Given the description of an element on the screen output the (x, y) to click on. 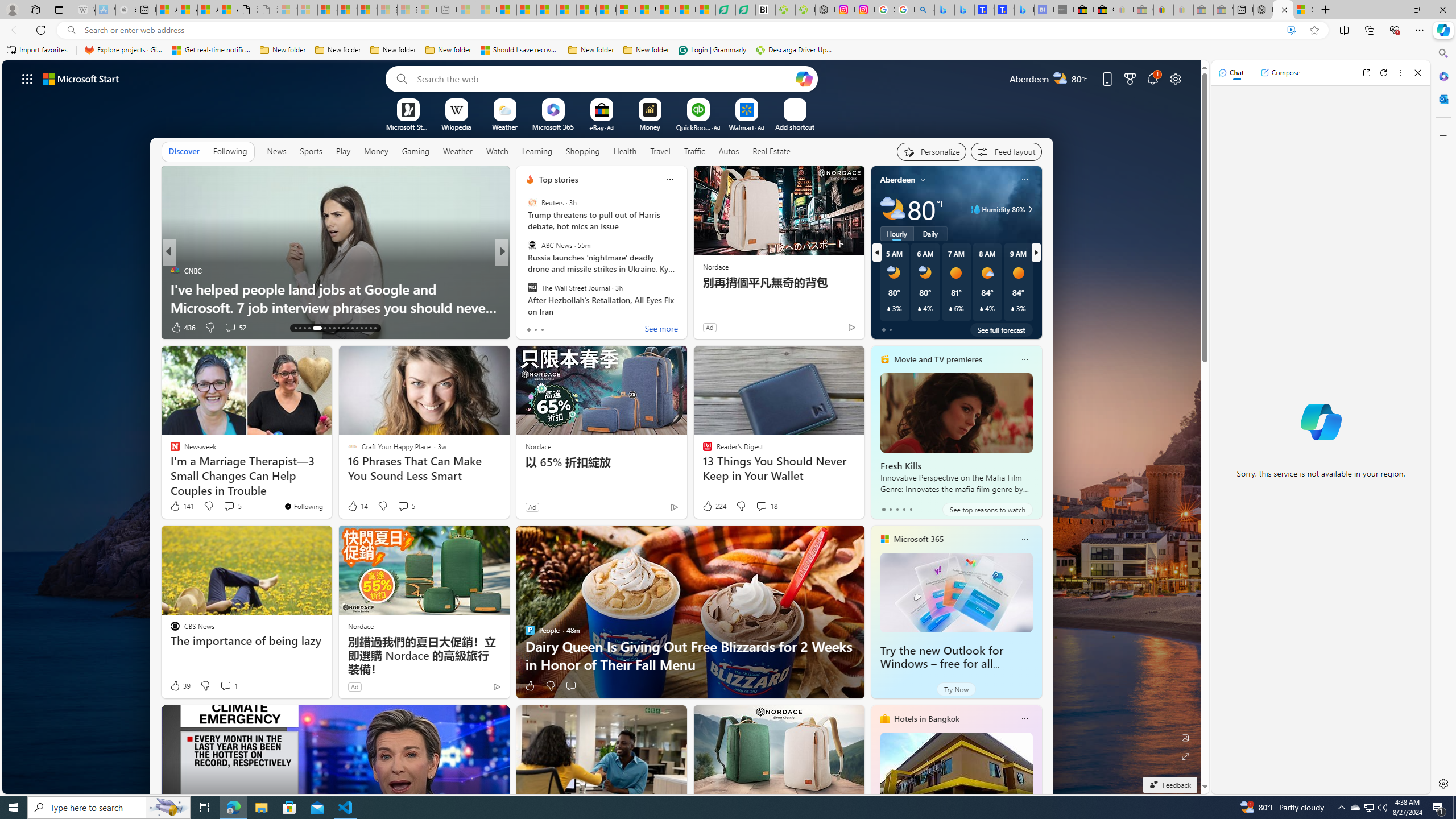
Class: control (27, 78)
Aberdeen, Hong Kong SAR severe weather | Microsoft Weather (227, 9)
Try Now (956, 689)
Should I save recovered Word documents? - Microsoft Support (519, 49)
Humidity 86% (1028, 208)
AutomationID: tab-24 (352, 328)
Avoid These 20 Phrases for a Successful Job Interview (684, 298)
